Given the description of an element on the screen output the (x, y) to click on. 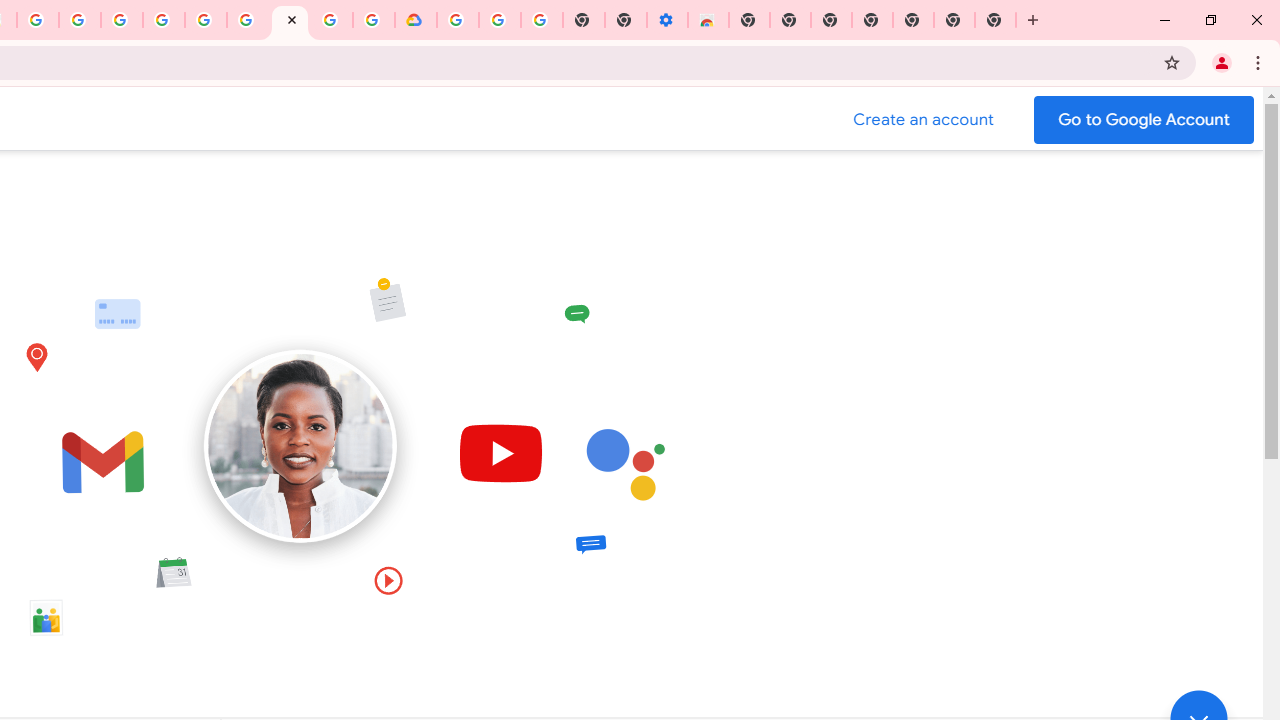
Create a Google Account (923, 119)
Ad Settings (122, 20)
Sign in - Google Accounts (457, 20)
Go to your Google Account (1144, 119)
New Tab (749, 20)
